Given the description of an element on the screen output the (x, y) to click on. 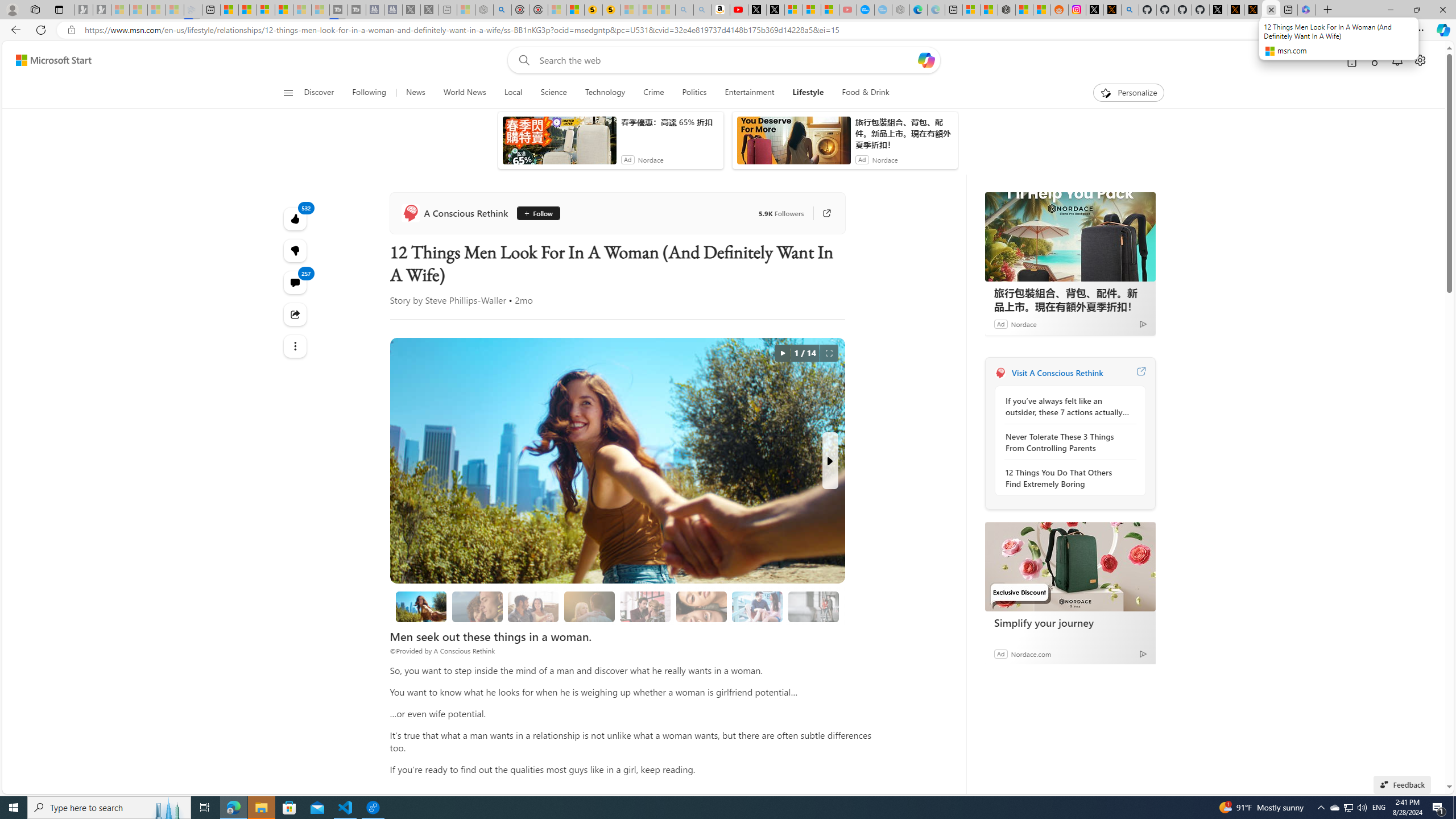
World News (464, 92)
1. She is compassionate. (477, 606)
autorotate button (782, 352)
Share this story (295, 314)
help.x.com | 524: A timeout occurred (1112, 9)
Personalize (1128, 92)
Profile / X (1217, 9)
532 Like (295, 218)
Share this story (295, 314)
